Given the description of an element on the screen output the (x, y) to click on. 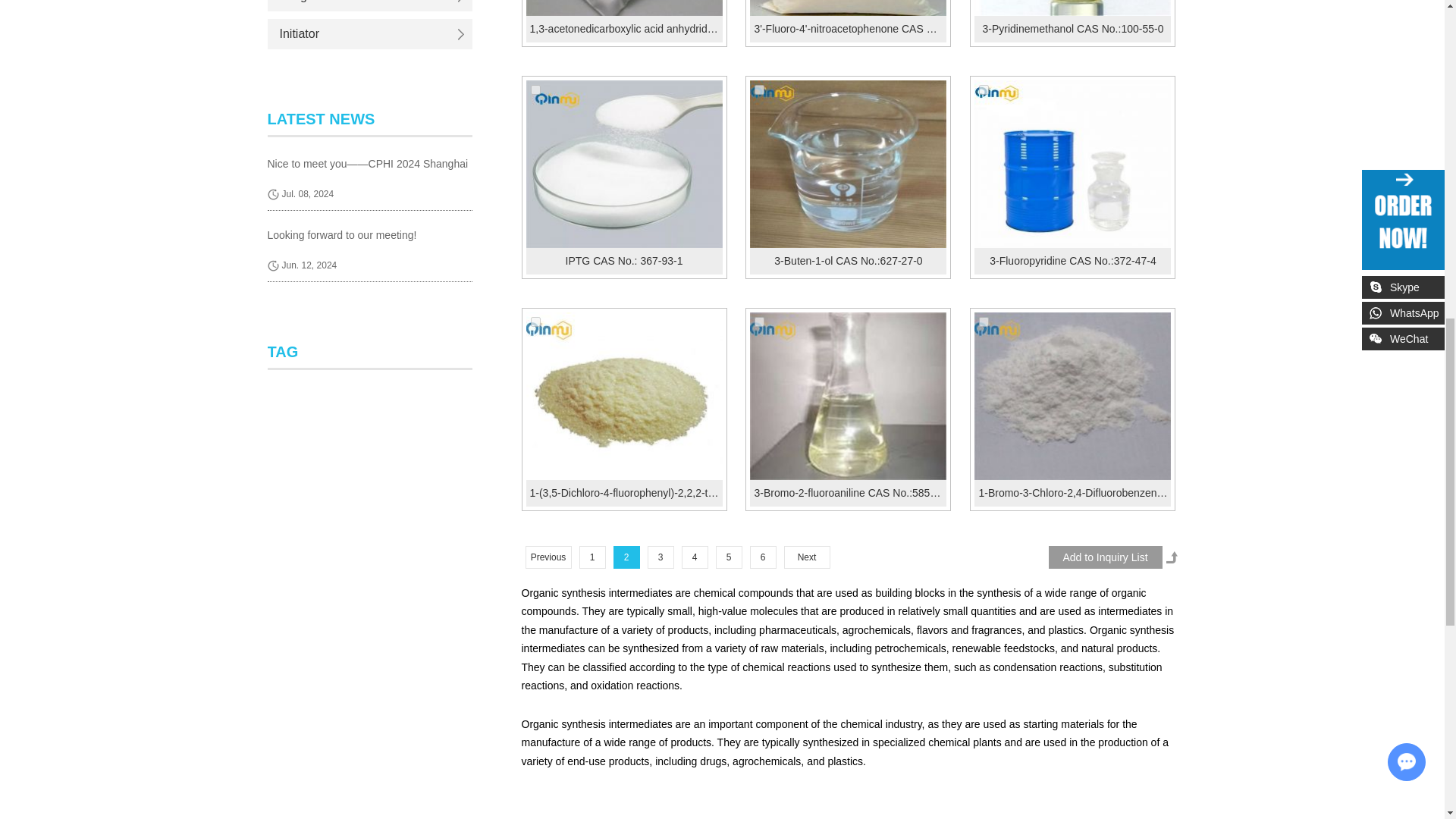
820 (759, 90)
818 (535, 321)
822 (535, 90)
Add to Inquiry List (1104, 557)
819 (983, 90)
817 (759, 321)
816 (983, 321)
